Given the description of an element on the screen output the (x, y) to click on. 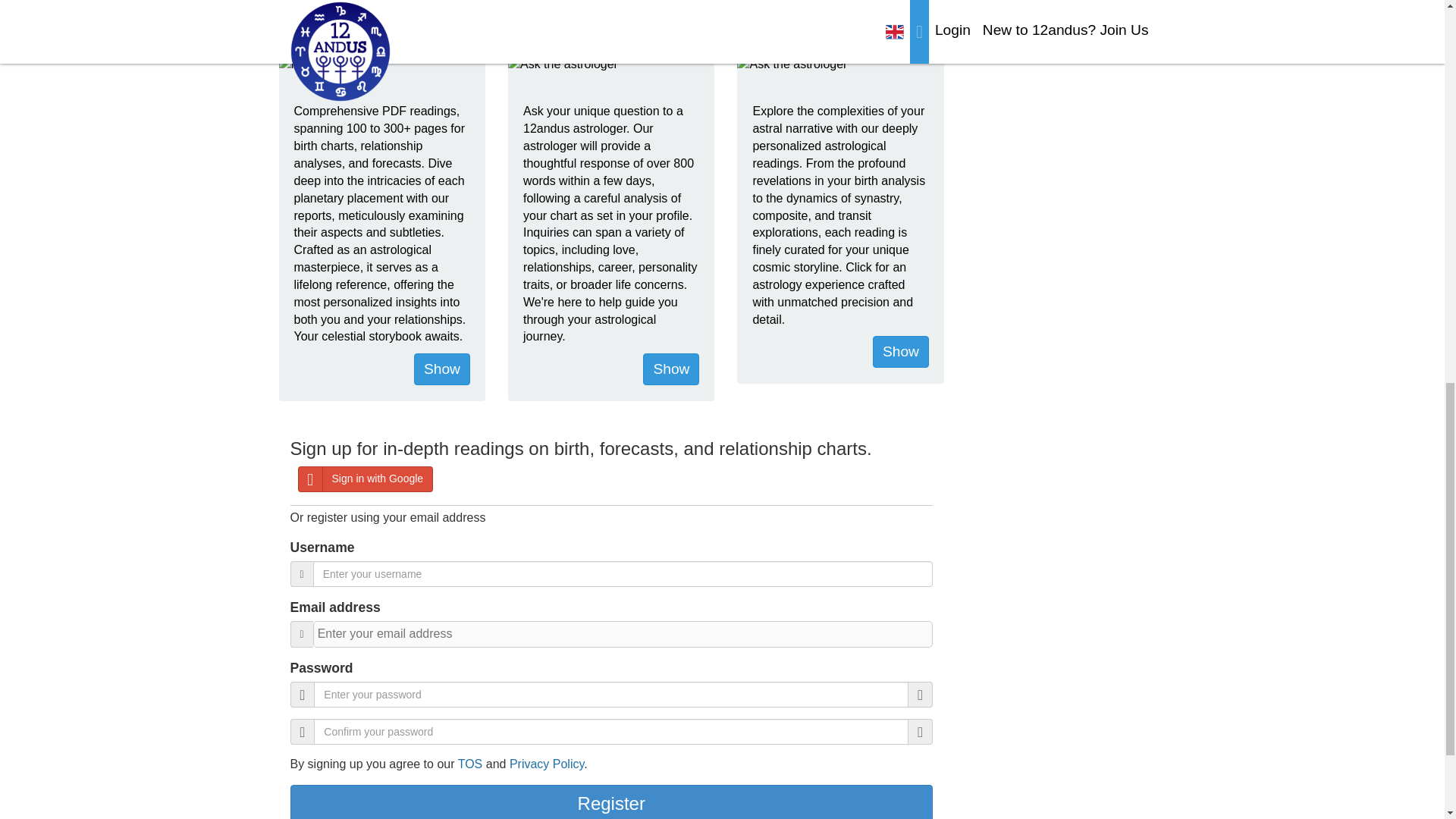
Register (611, 801)
